Given the description of an element on the screen output the (x, y) to click on. 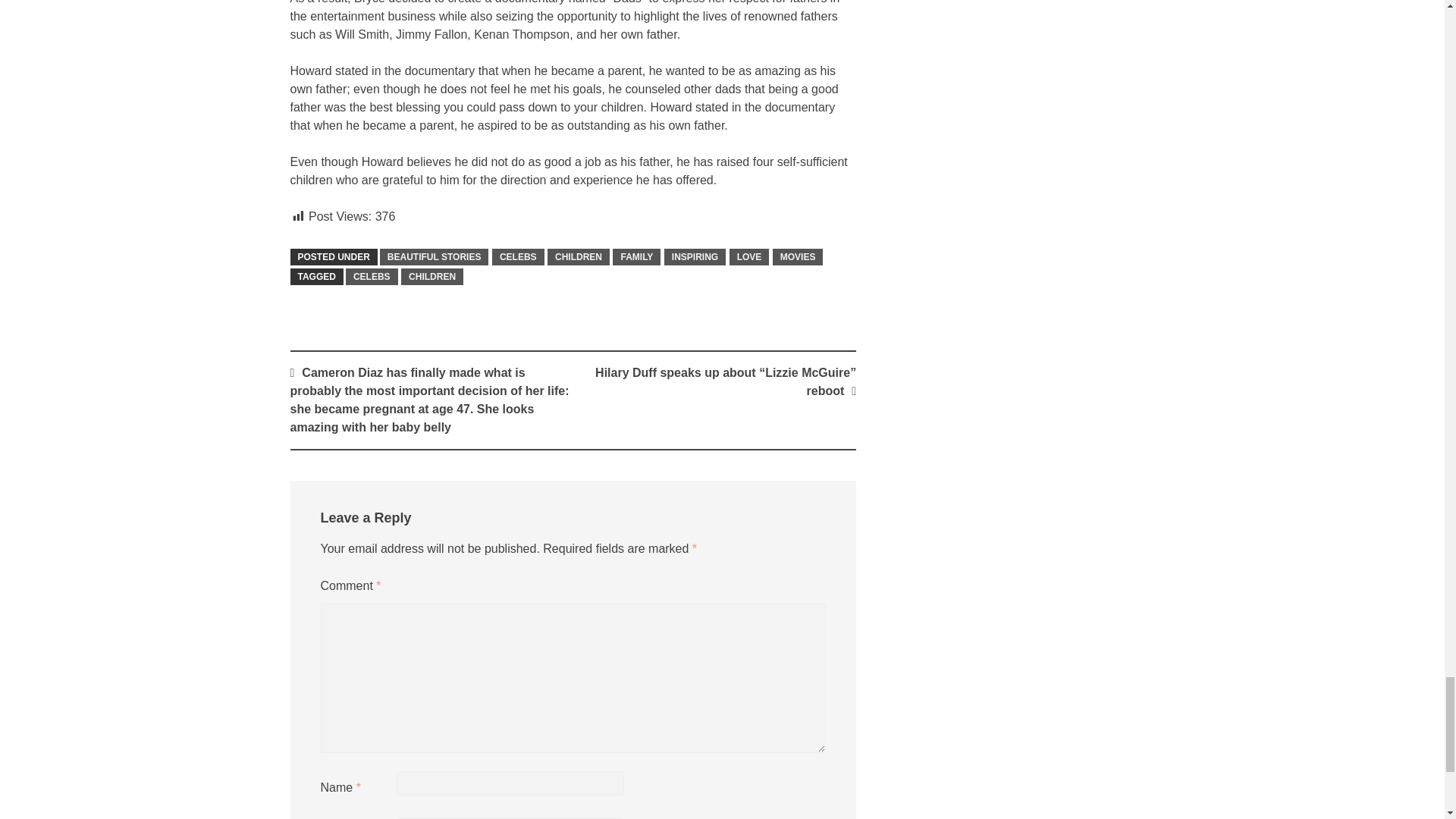
INSPIRING (694, 256)
CELEBS (518, 256)
CELEBS (371, 276)
LOVE (749, 256)
CHILDREN (578, 256)
FAMILY (636, 256)
MOVIES (798, 256)
BEAUTIFUL STORIES (434, 256)
CHILDREN (432, 276)
